Given the description of an element on the screen output the (x, y) to click on. 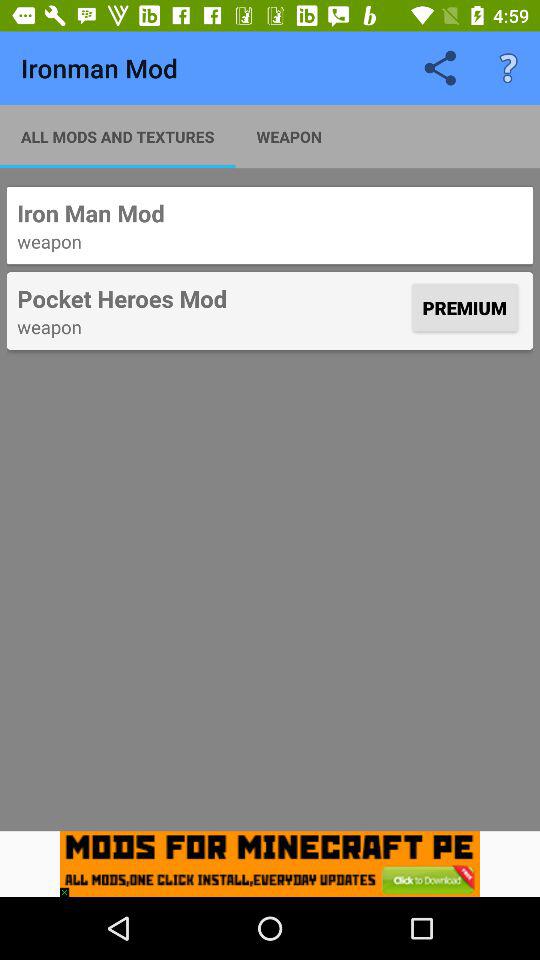
click the icon next to the premium (211, 298)
